Given the description of an element on the screen output the (x, y) to click on. 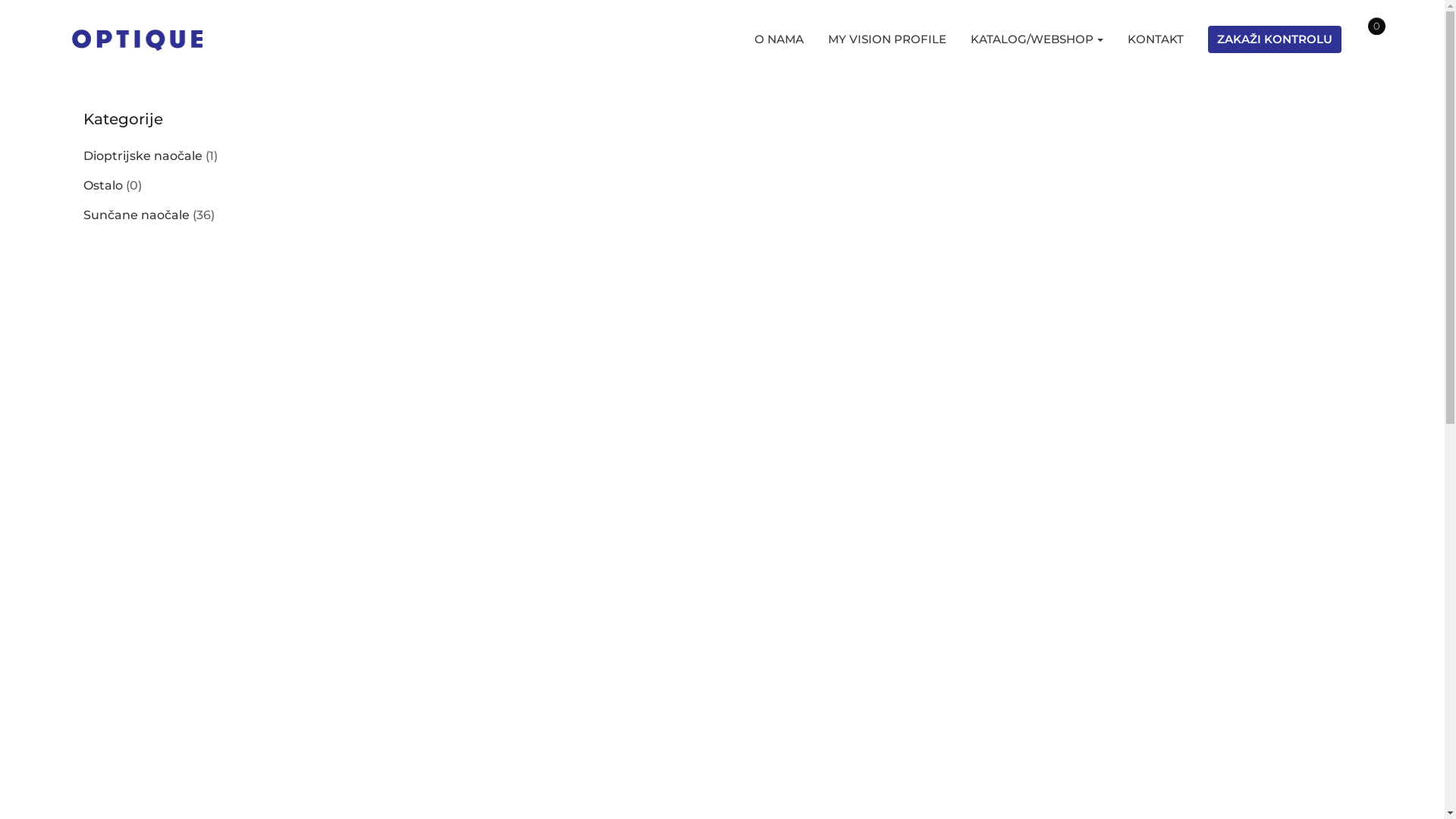
MY VISION PROFILE Element type: text (887, 38)
Advertise with us Element type: text (239, 22)
Ostalo Element type: text (102, 185)
O NAMA Element type: text (778, 38)
KONTAKT Element type: text (1155, 38)
Subscribe to RSS Element type: text (124, 22)
0 Element type: text (1362, 38)
KATALOG/WEBSHOP Element type: text (1036, 38)
